Given the description of an element on the screen output the (x, y) to click on. 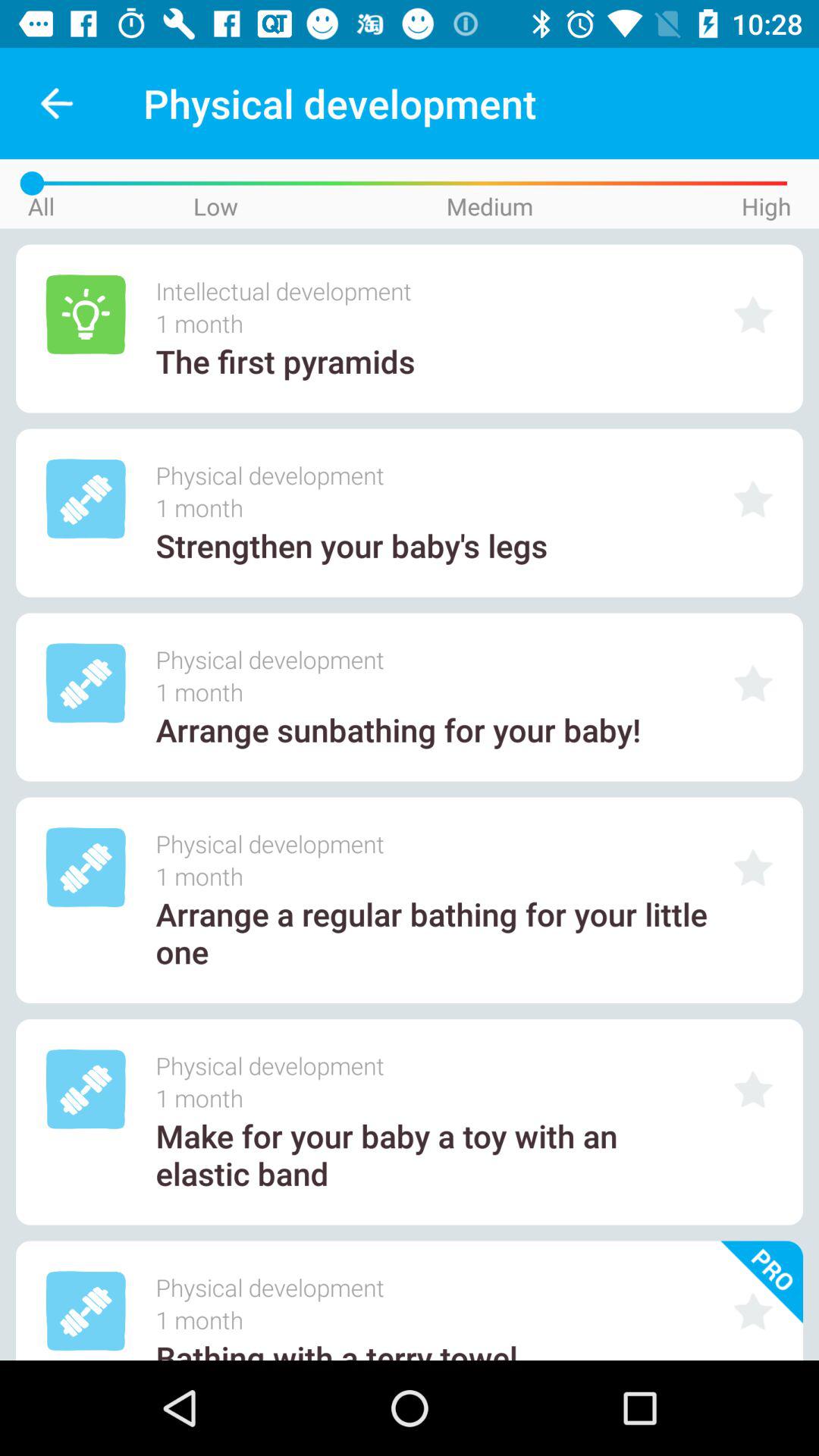
go to like (753, 498)
